Given the description of an element on the screen output the (x, y) to click on. 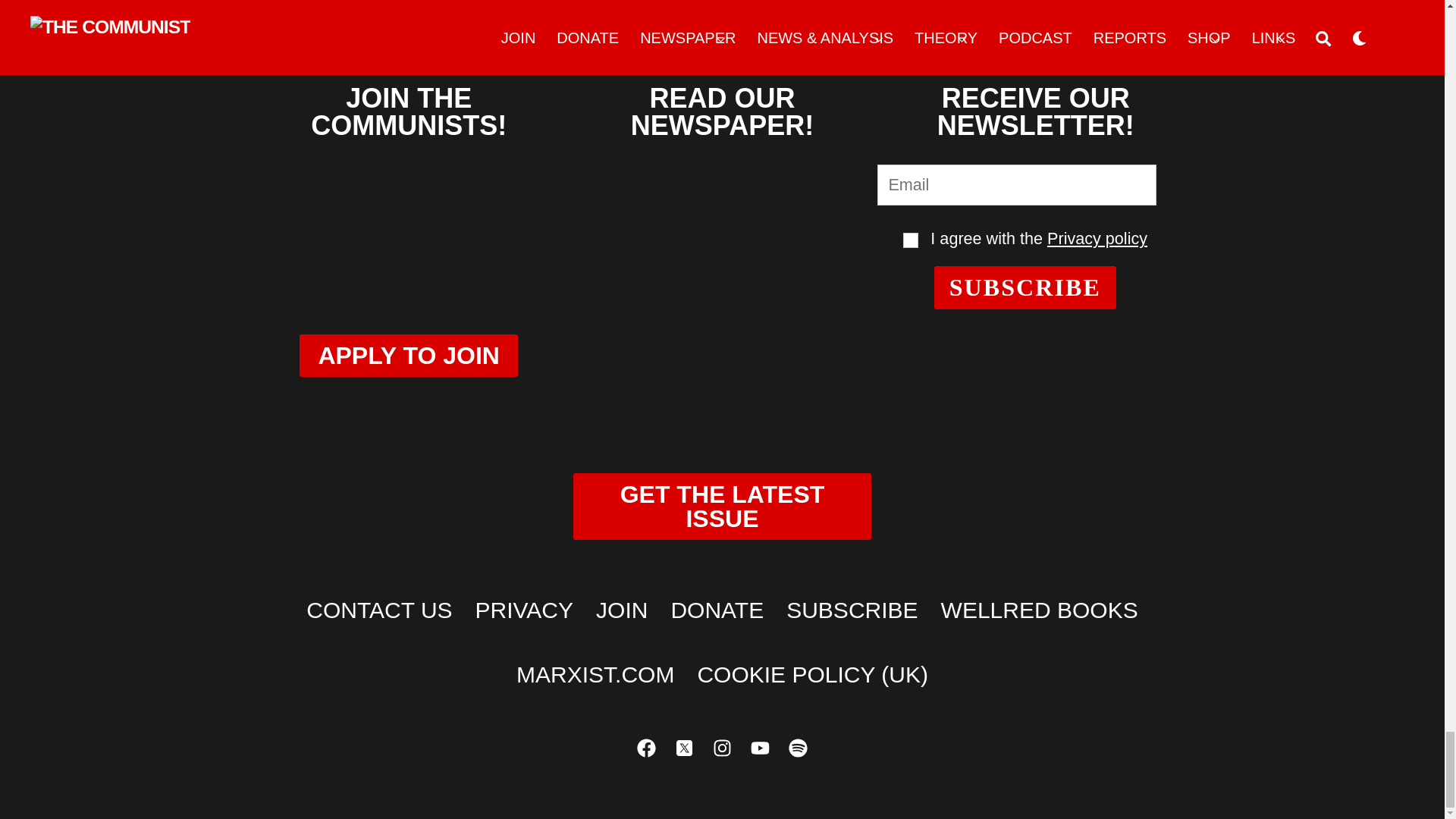
Terms and conditions (910, 240)
Privacy policy (1096, 238)
on (910, 240)
